Given the description of an element on the screen output the (x, y) to click on. 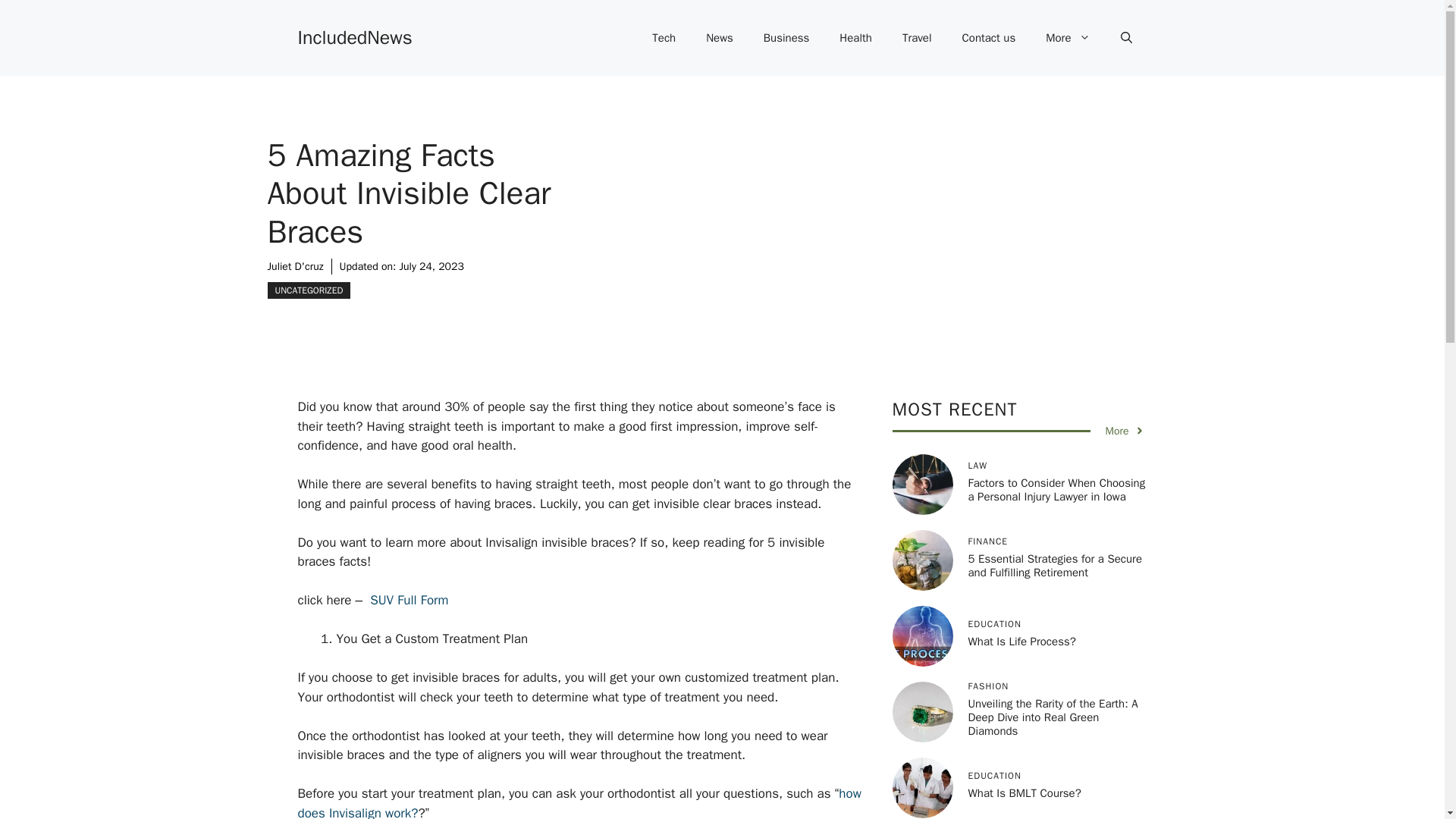
how does Invisalign work? (578, 802)
More (1067, 37)
News (719, 37)
Travel (916, 37)
Health (855, 37)
IncludedNews (354, 37)
More (1124, 430)
Juliet D'cruz (294, 266)
Business (786, 37)
Contact us (988, 37)
